Given the description of an element on the screen output the (x, y) to click on. 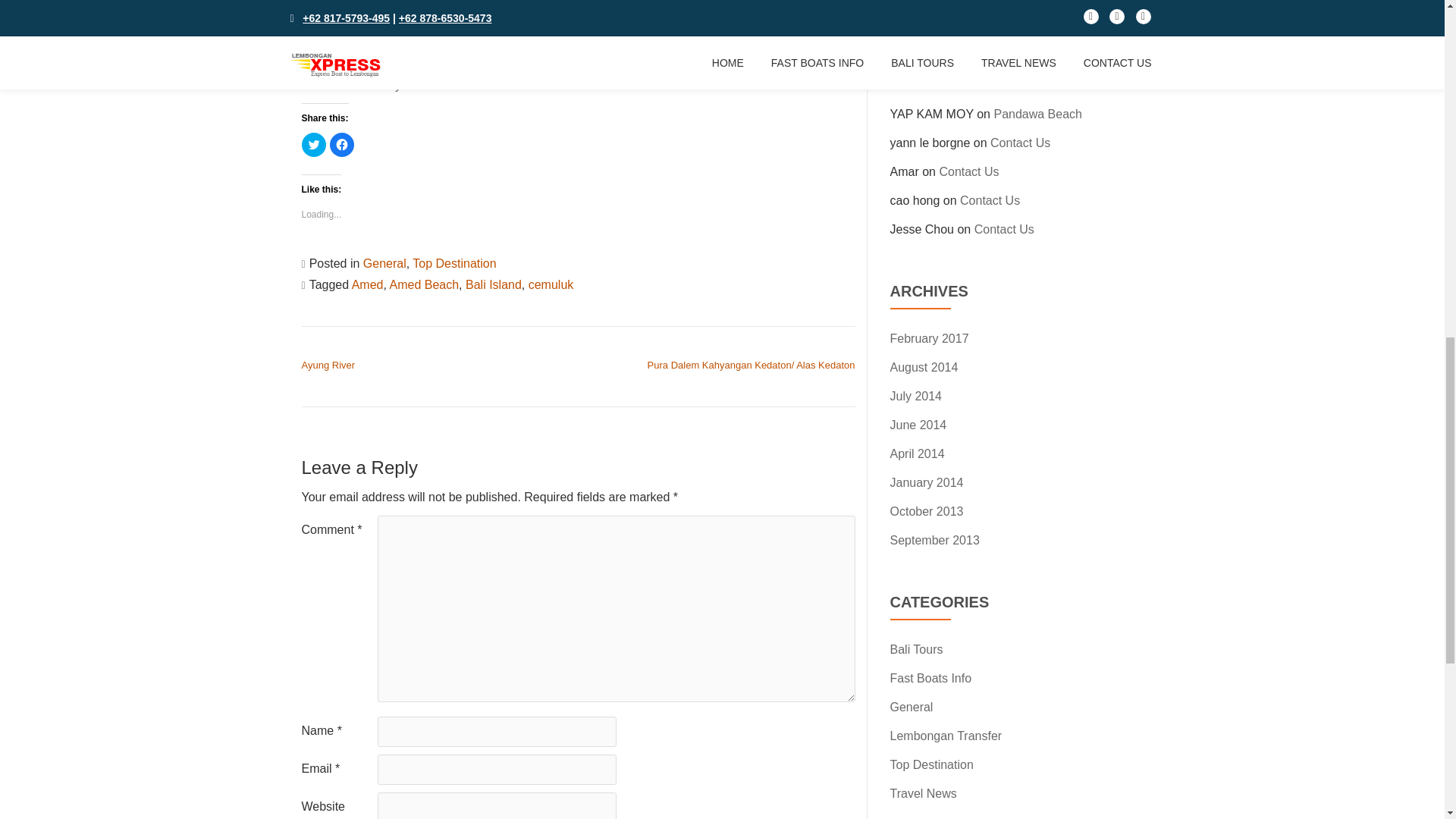
Amed Beach (425, 284)
cemuluk (550, 284)
Pandawa Beach (1036, 113)
Discover the Peaceful Getaway of Dream Beach (1000, 5)
Bali Island (493, 284)
Contact Us (1019, 142)
Ayung River (328, 365)
Click to share on Twitter (313, 144)
General (384, 263)
Amed (368, 284)
Top Destination (454, 263)
Click to share on Facebook (341, 144)
